Given the description of an element on the screen output the (x, y) to click on. 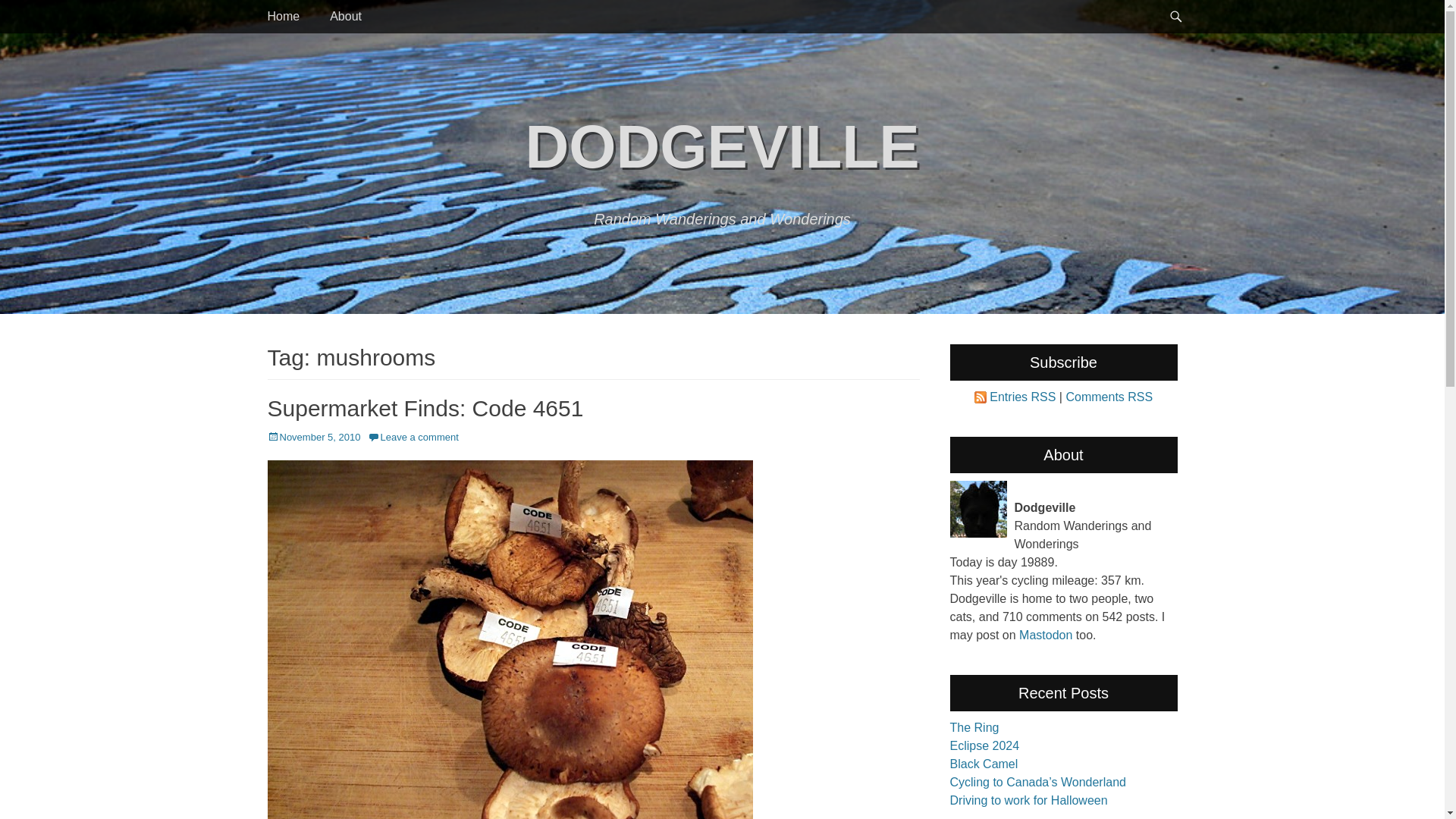
Driving to work for Halloween (1027, 799)
Black Camel (983, 763)
Mastodon (1045, 634)
November 5, 2010 (312, 437)
Comments RSS (1109, 396)
About (345, 16)
Leave a comment (413, 437)
Entries RSS (1022, 396)
DODGEVILLE (721, 146)
Eclipse 2024 (984, 745)
